Given the description of an element on the screen output the (x, y) to click on. 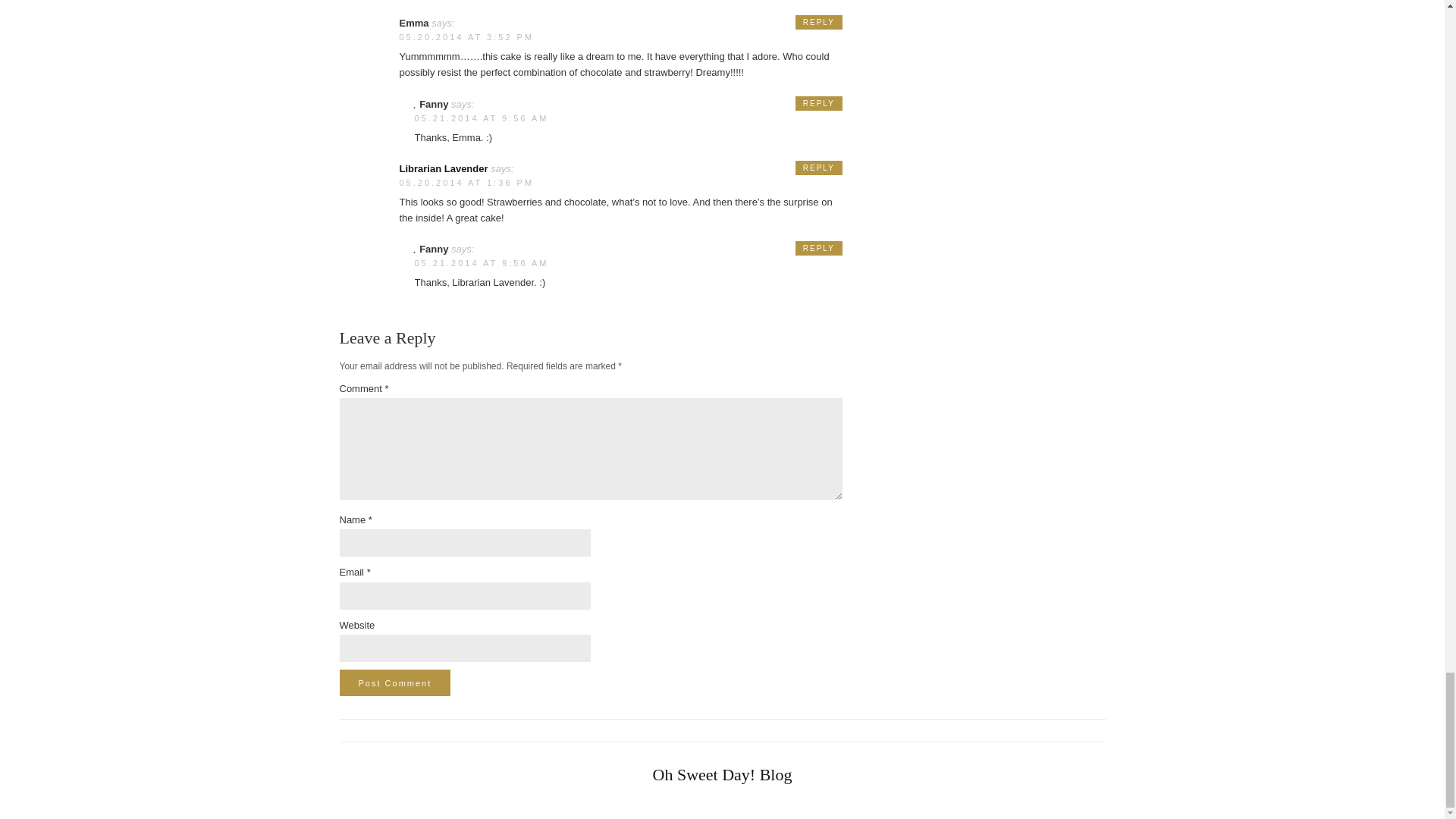
Post Comment (395, 682)
